Given the description of an element on the screen output the (x, y) to click on. 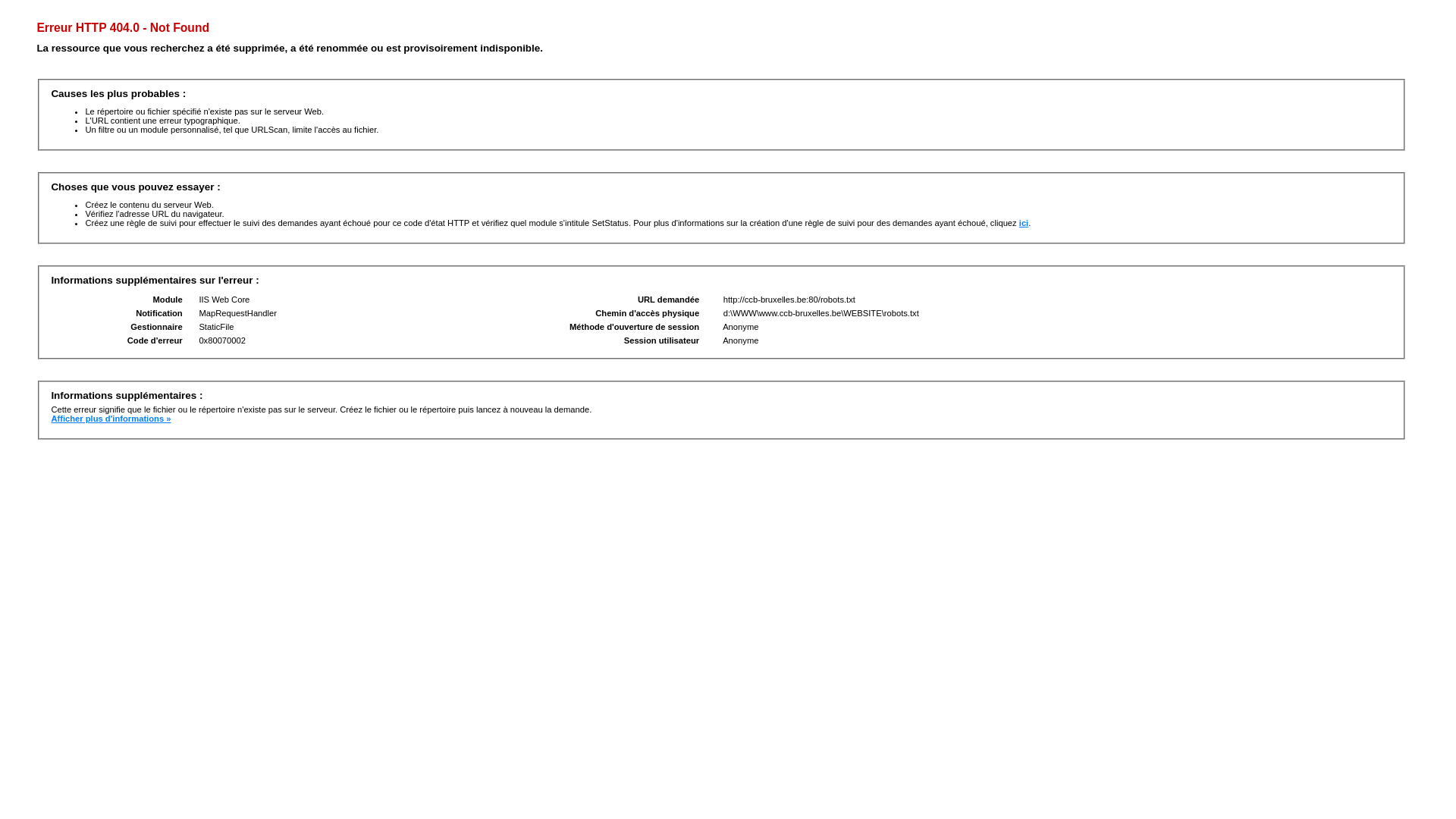
ici Element type: text (1023, 222)
